Given the description of an element on the screen output the (x, y) to click on. 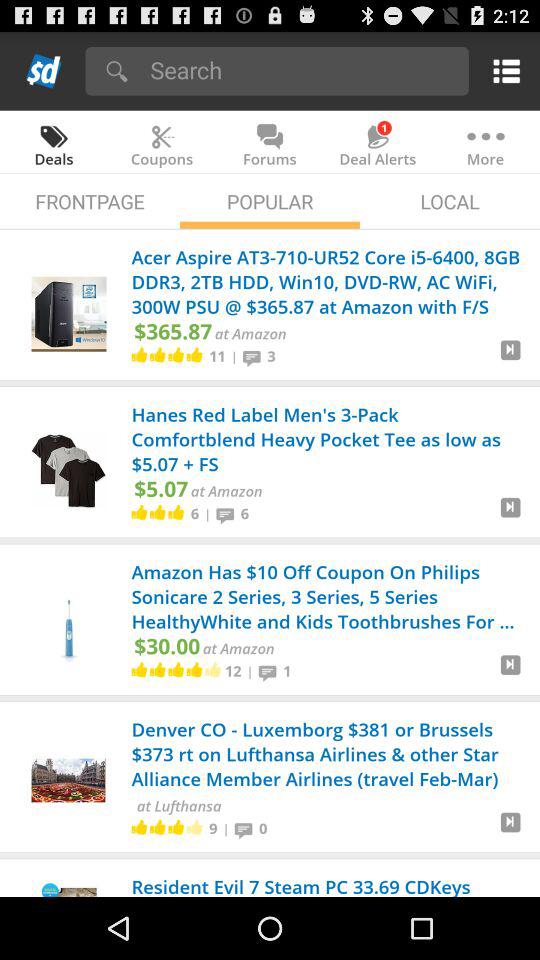
swipe until the 0 item (263, 828)
